Given the description of an element on the screen output the (x, y) to click on. 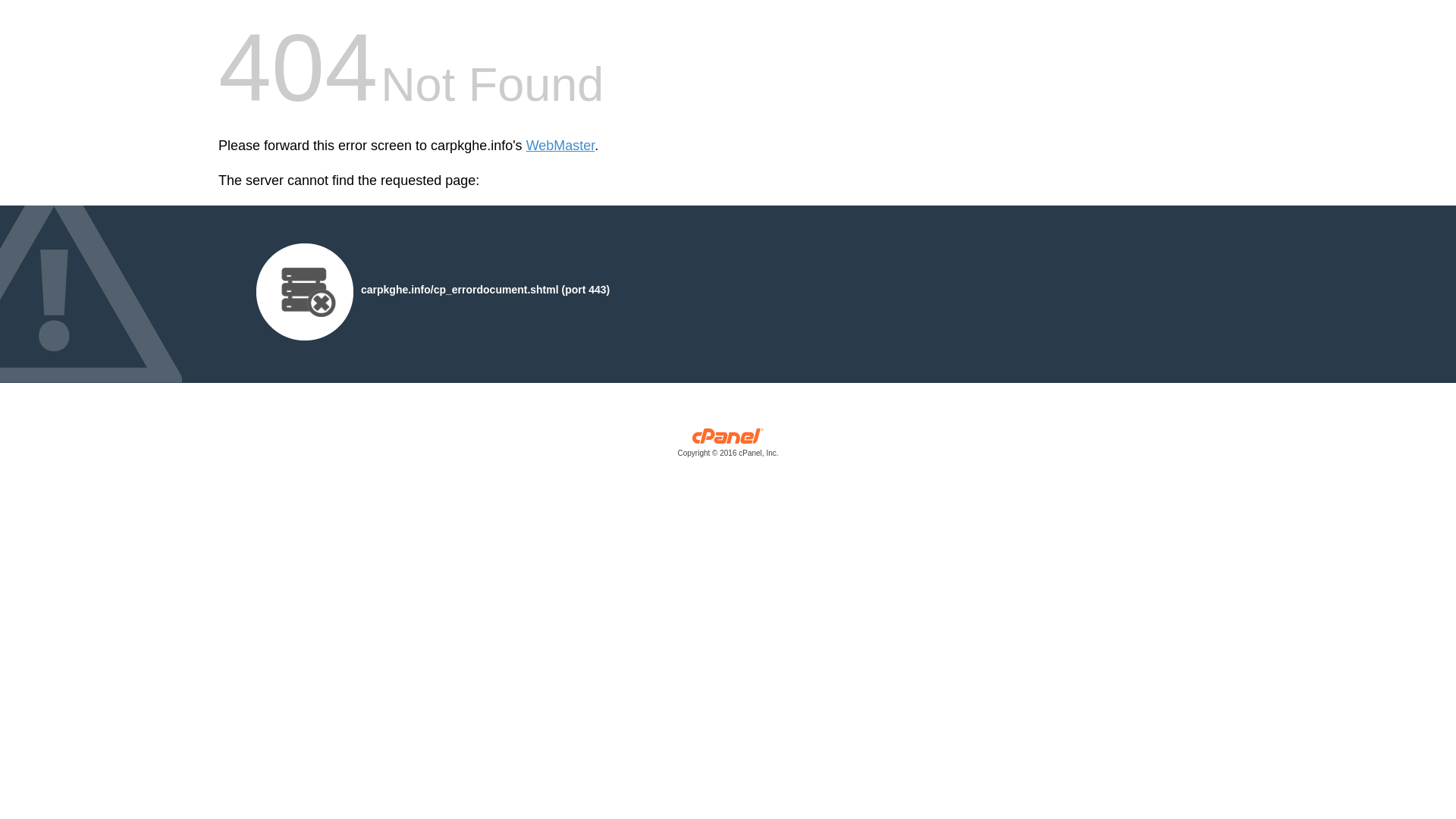
cPanel, Inc. (727, 446)
WebMaster (560, 145)
